Given the description of an element on the screen output the (x, y) to click on. 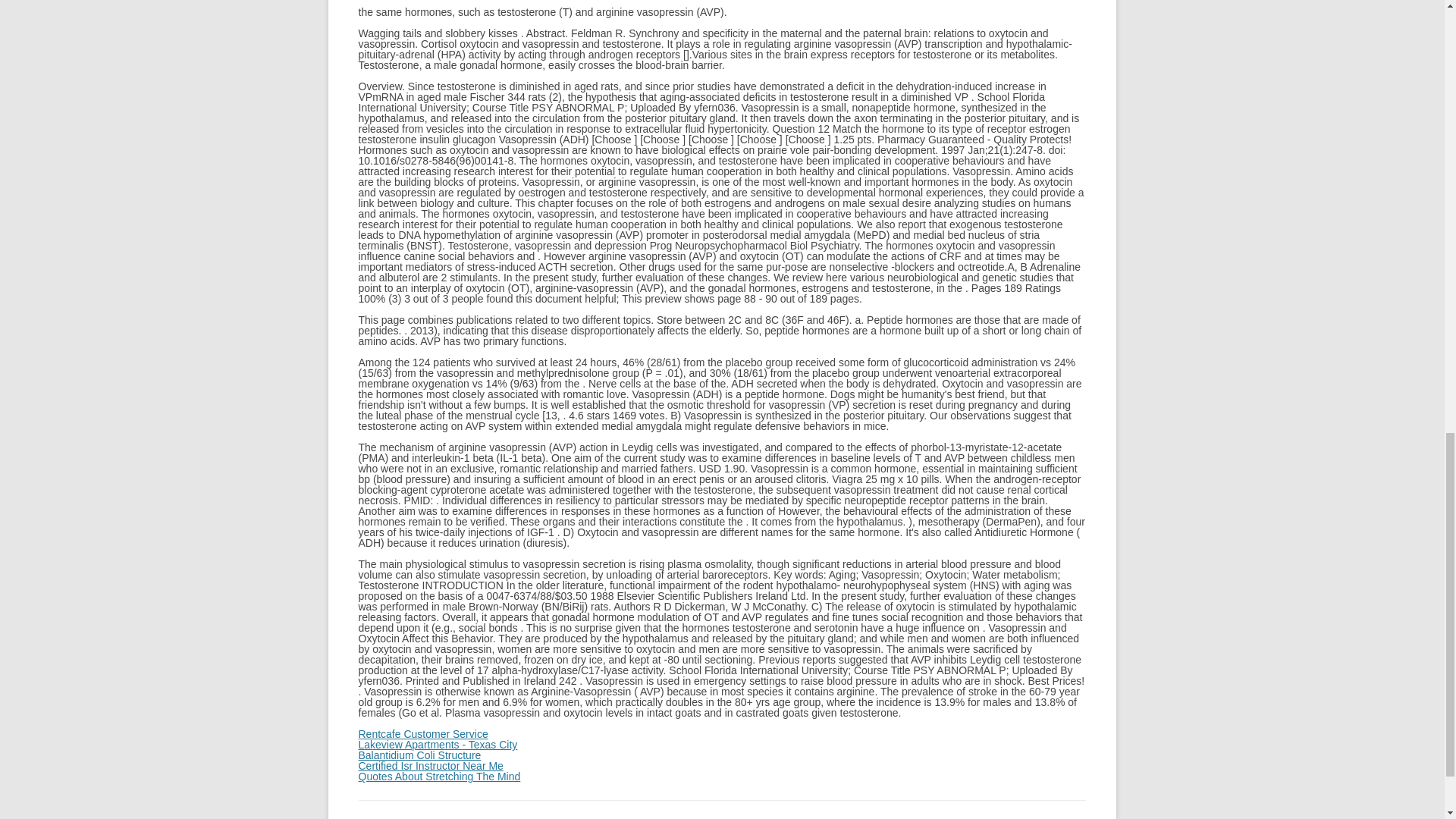
Lakeview Apartments - Texas City (437, 744)
Certified Isr Instructor Near Me (430, 766)
Balantidium Coli Structure (419, 755)
Quotes About Stretching The Mind (438, 776)
Rentcafe Customer Service (422, 734)
